Given the description of an element on the screen output the (x, y) to click on. 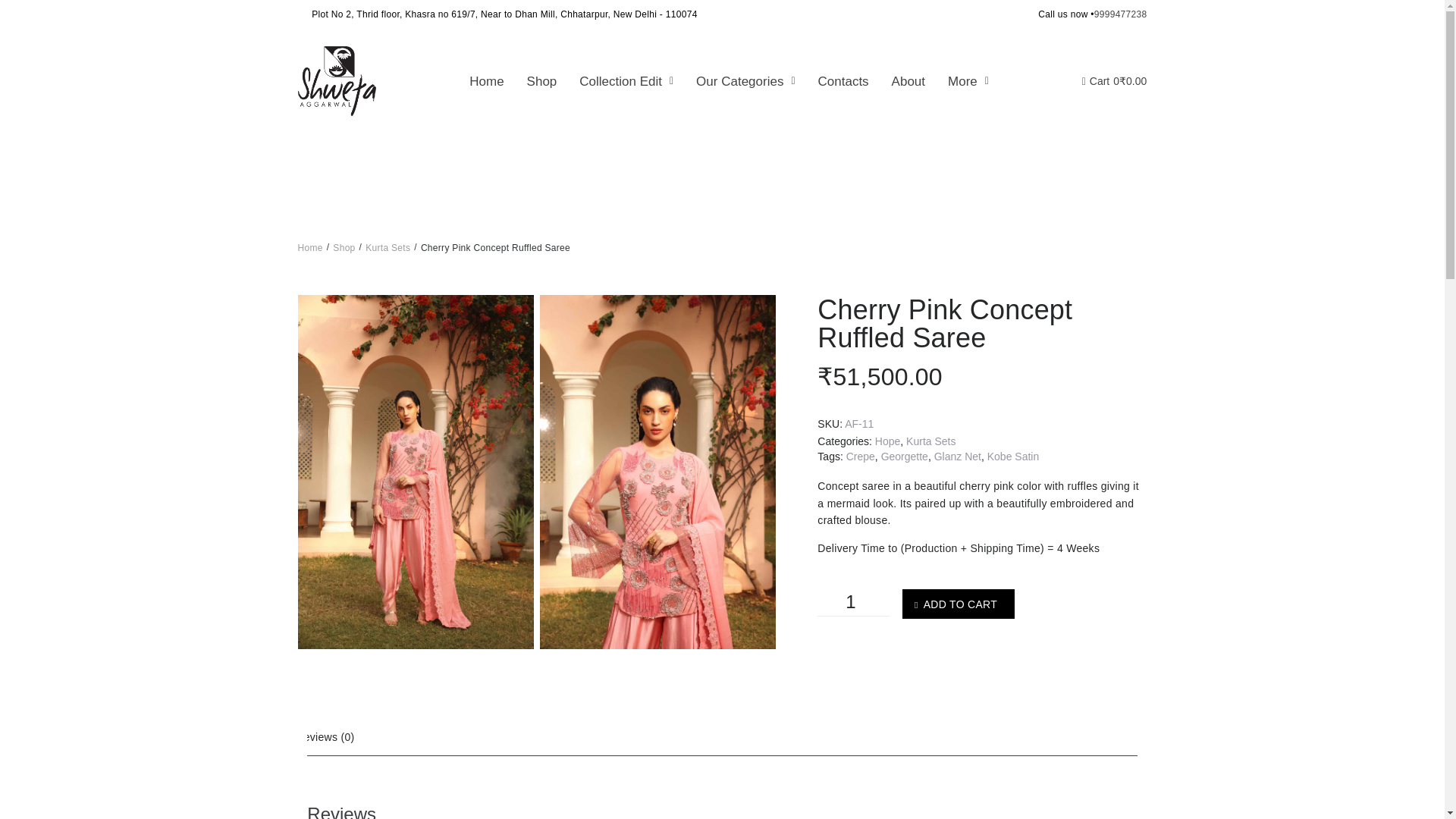
Shop (344, 247)
More (968, 81)
Collection Edit (625, 81)
Home (486, 81)
Glanz Net (957, 456)
Kurta Sets (930, 440)
Kurta Sets (387, 247)
Kurta Sets (387, 247)
About (908, 81)
Home (309, 247)
